Given the description of an element on the screen output the (x, y) to click on. 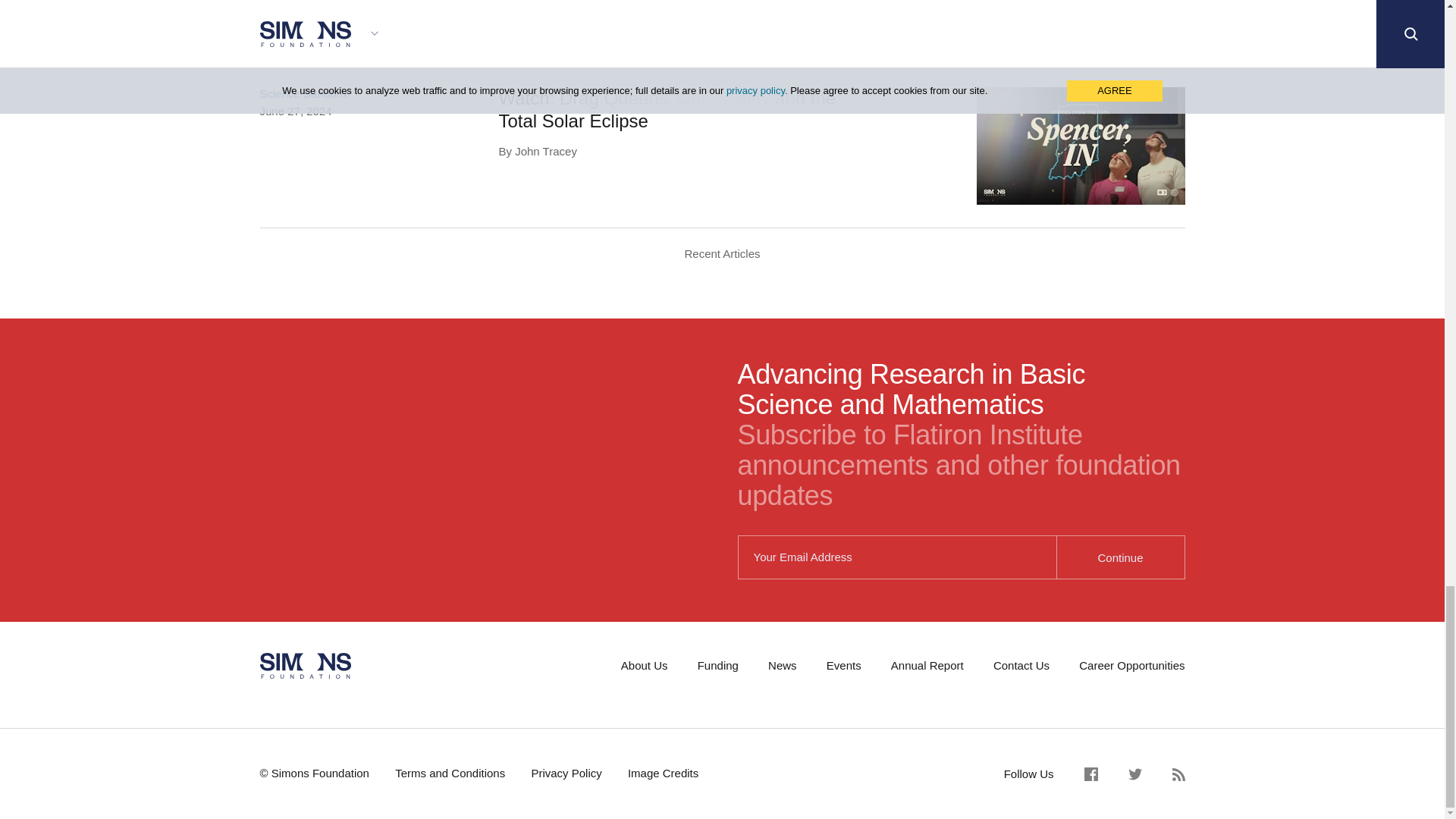
Simons Foundation (304, 665)
